Given the description of an element on the screen output the (x, y) to click on. 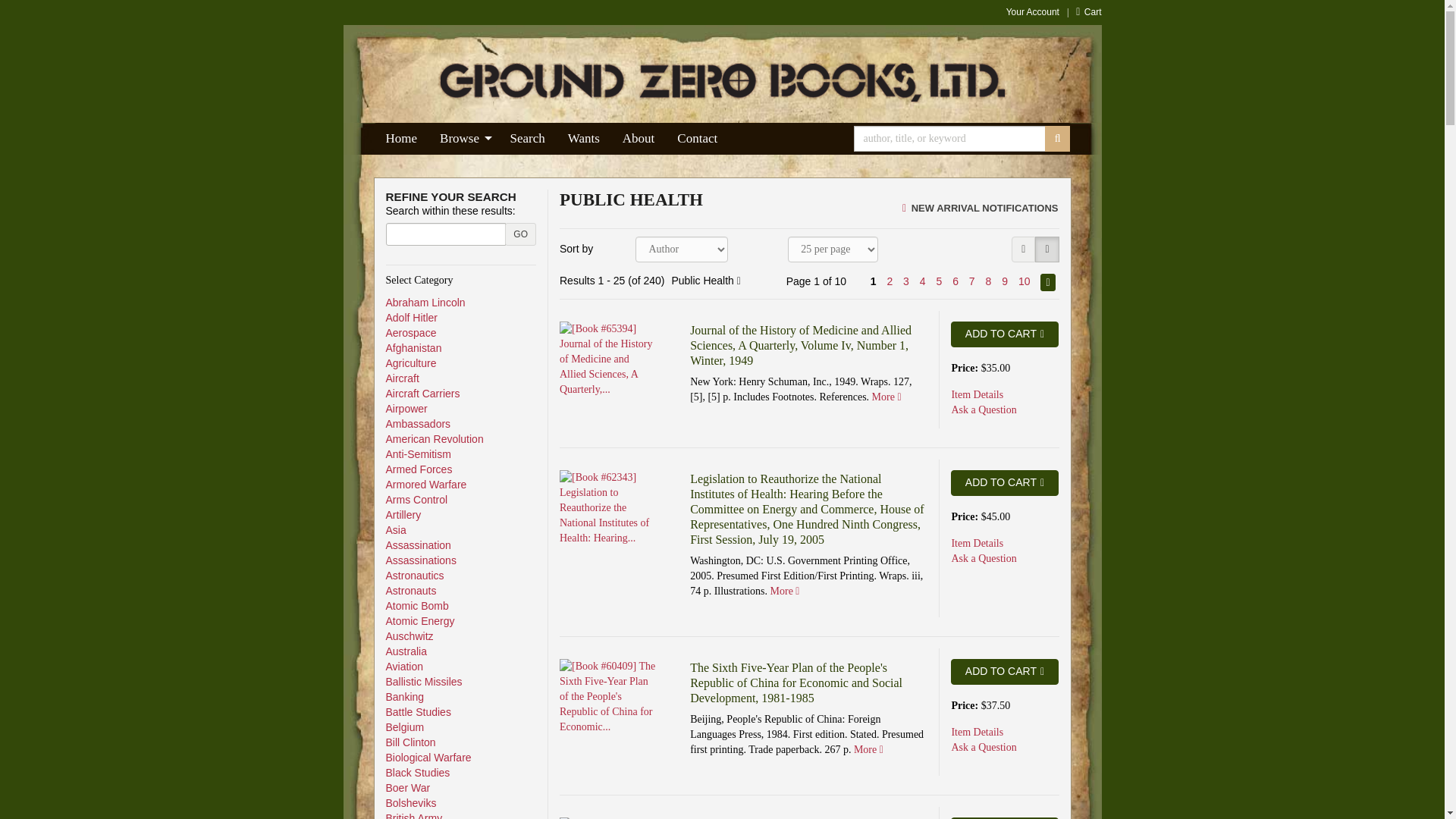
Ground Zero Books, Ltd. (721, 83)
